Given the description of an element on the screen output the (x, y) to click on. 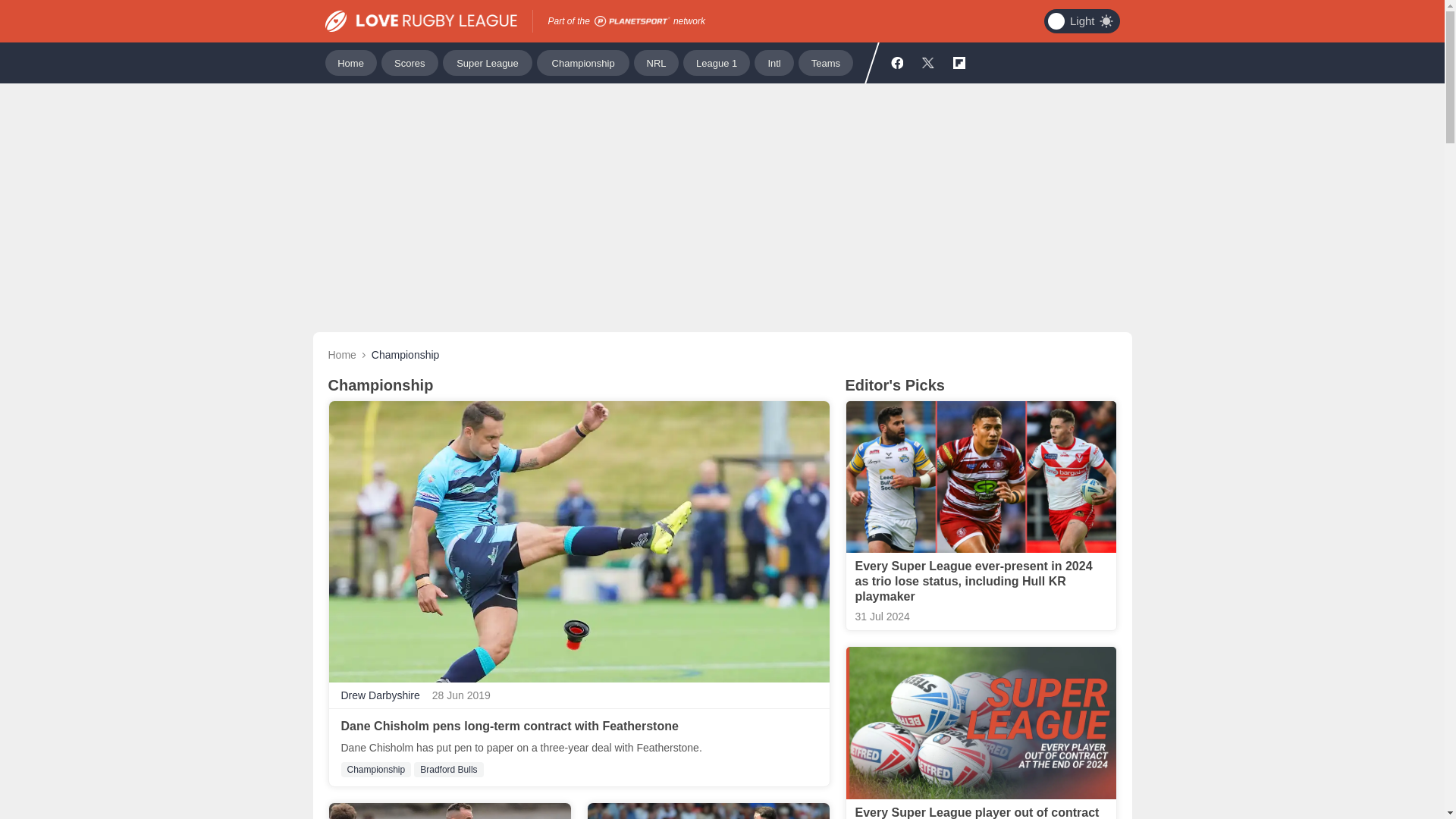
League 1 (715, 62)
NRL (655, 62)
Championship (582, 62)
Home (349, 62)
Intl (773, 62)
Dane Chisholm pens long-term contract with Featherstone (509, 725)
Scores (409, 62)
Championship (376, 768)
Super League (487, 62)
Bradford Bulls (448, 768)
Home (341, 354)
Drew Darbyshire (380, 695)
Teams (825, 62)
